Given the description of an element on the screen output the (x, y) to click on. 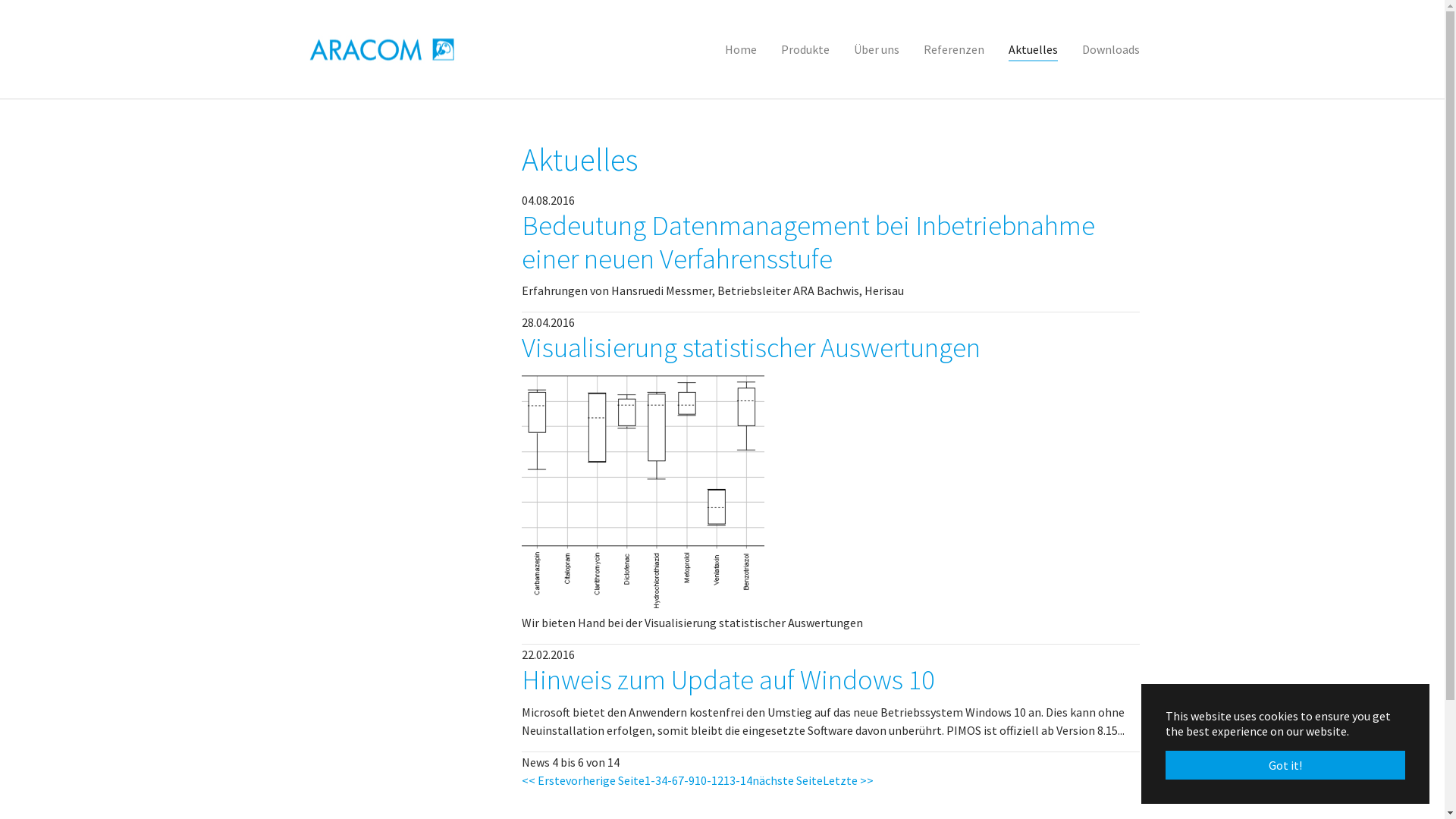
Home Element type: text (740, 49)
Referenzen Element type: text (953, 49)
<< Erste Element type: text (543, 779)
Downloads Element type: text (1110, 49)
Got it! Element type: text (1285, 764)
Visualisierung statistischer Auswertungen Element type: text (750, 346)
Letzte >> Element type: text (847, 779)
Produkte Element type: text (804, 49)
Hinweis zum Update auf Windows 10 Element type: text (727, 679)
13-14 Element type: text (737, 779)
Aktuelles
(current) Element type: text (1033, 49)
10-12 Element type: text (708, 779)
Visualisierung statistischer Auswertungen Element type: hover (642, 490)
1-3 Element type: text (652, 779)
vorherige Seite Element type: text (604, 779)
4-6 Element type: text (669, 779)
7-9 Element type: text (685, 779)
